Given the description of an element on the screen output the (x, y) to click on. 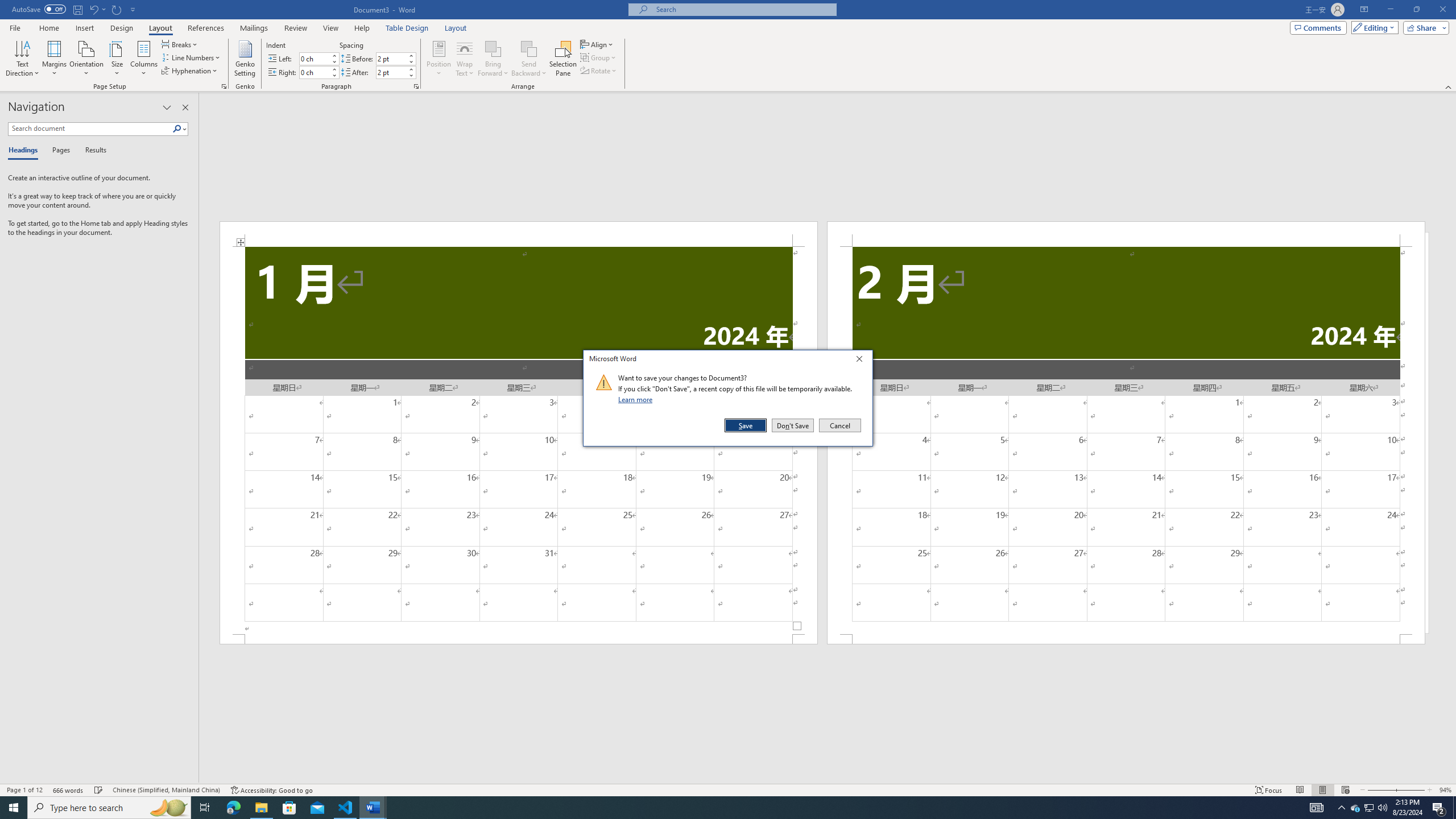
Page Setup... (223, 85)
Type here to search (108, 807)
Indent Left (314, 58)
Genko Setting... (244, 58)
Less (411, 75)
Size (116, 58)
Position (438, 58)
Notification Chevron (1341, 807)
Read Mode (1299, 790)
References (205, 28)
Text Direction (22, 58)
Microsoft Edge (233, 807)
Visual Studio Code - 1 running window (345, 807)
